Given the description of an element on the screen output the (x, y) to click on. 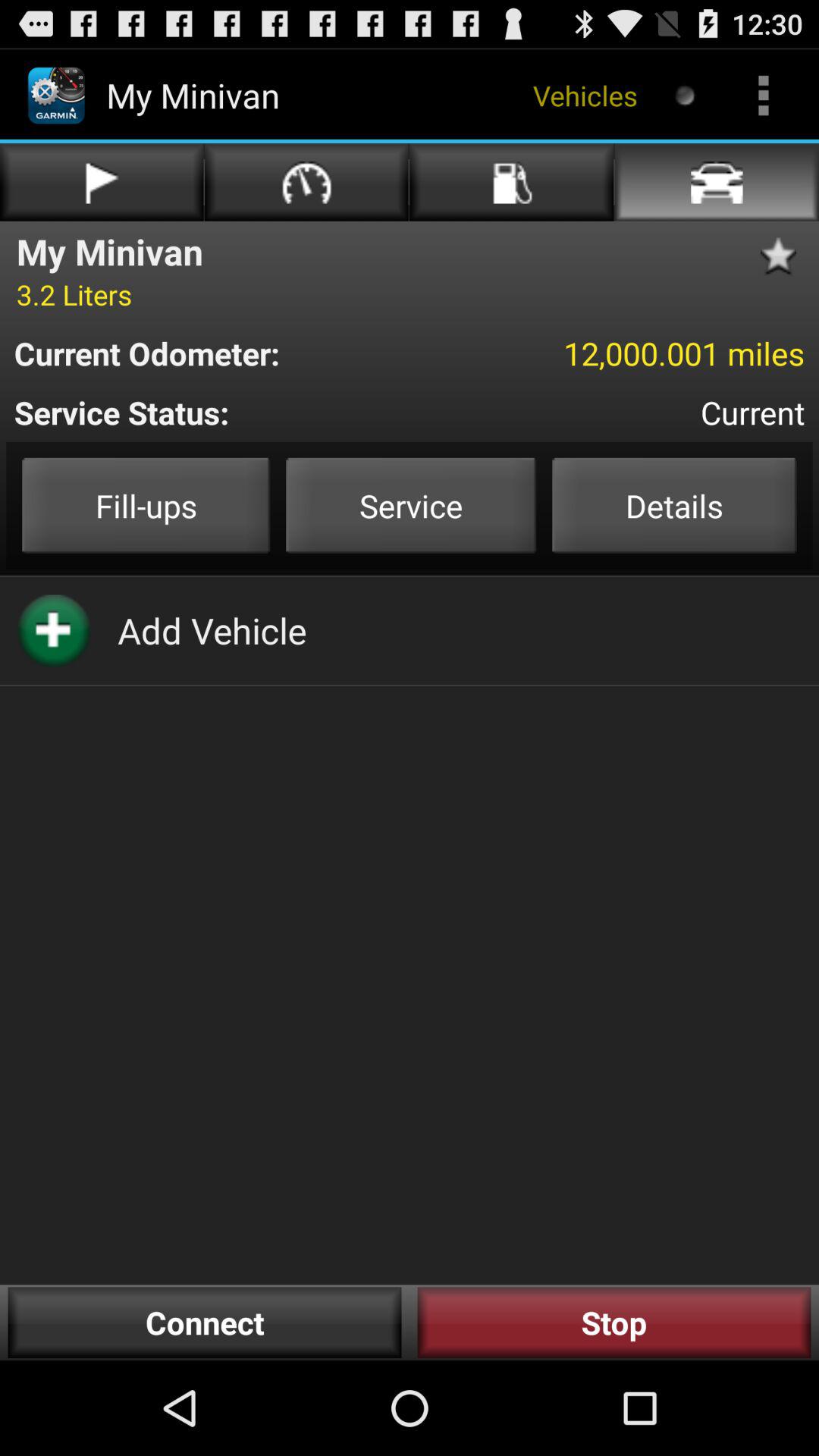
open the item below the fill-ups button (211, 630)
